Given the description of an element on the screen output the (x, y) to click on. 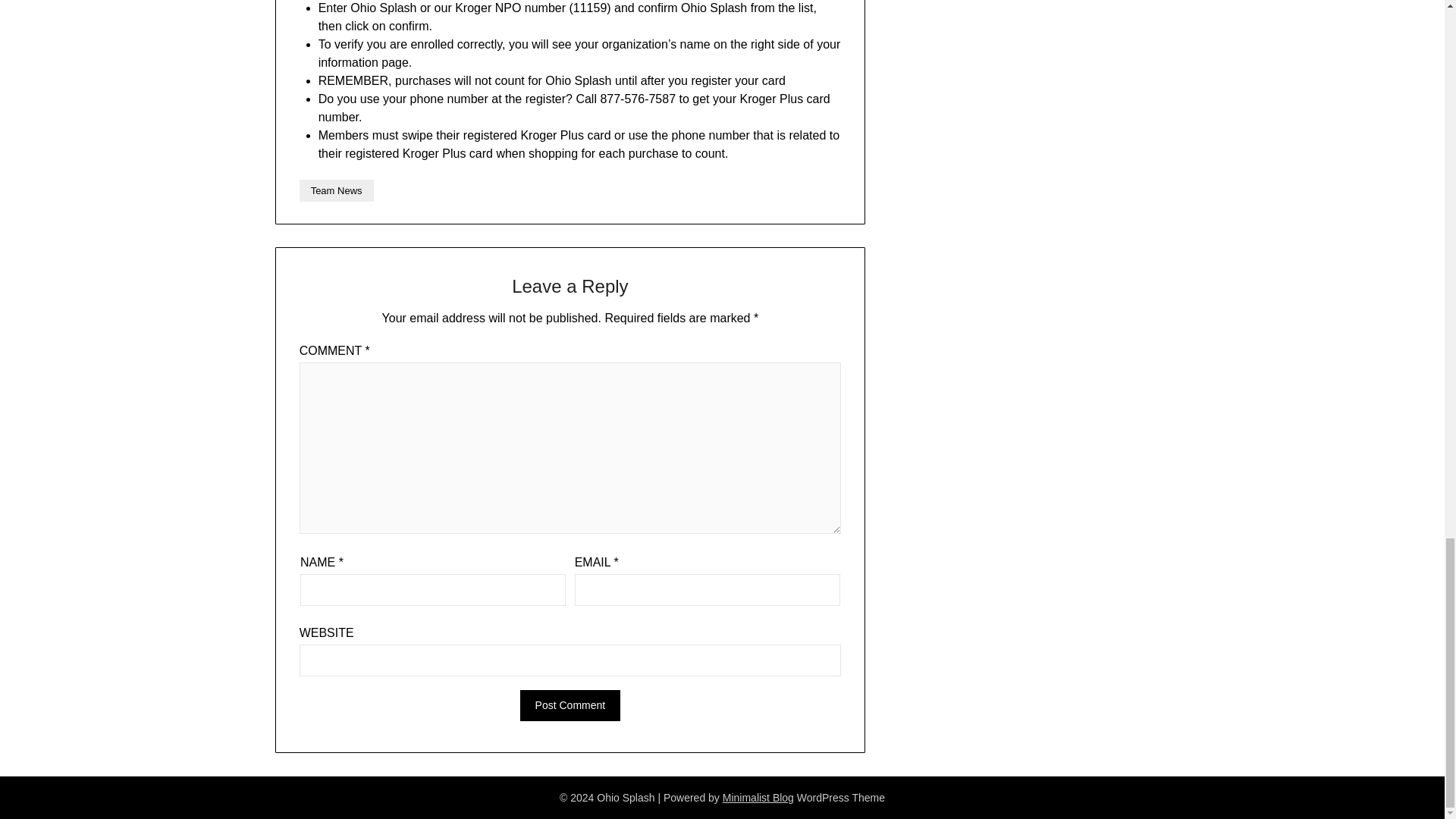
Post Comment (570, 705)
Minimalist Blog (757, 797)
Post Comment (570, 705)
Team News (336, 190)
